Given the description of an element on the screen output the (x, y) to click on. 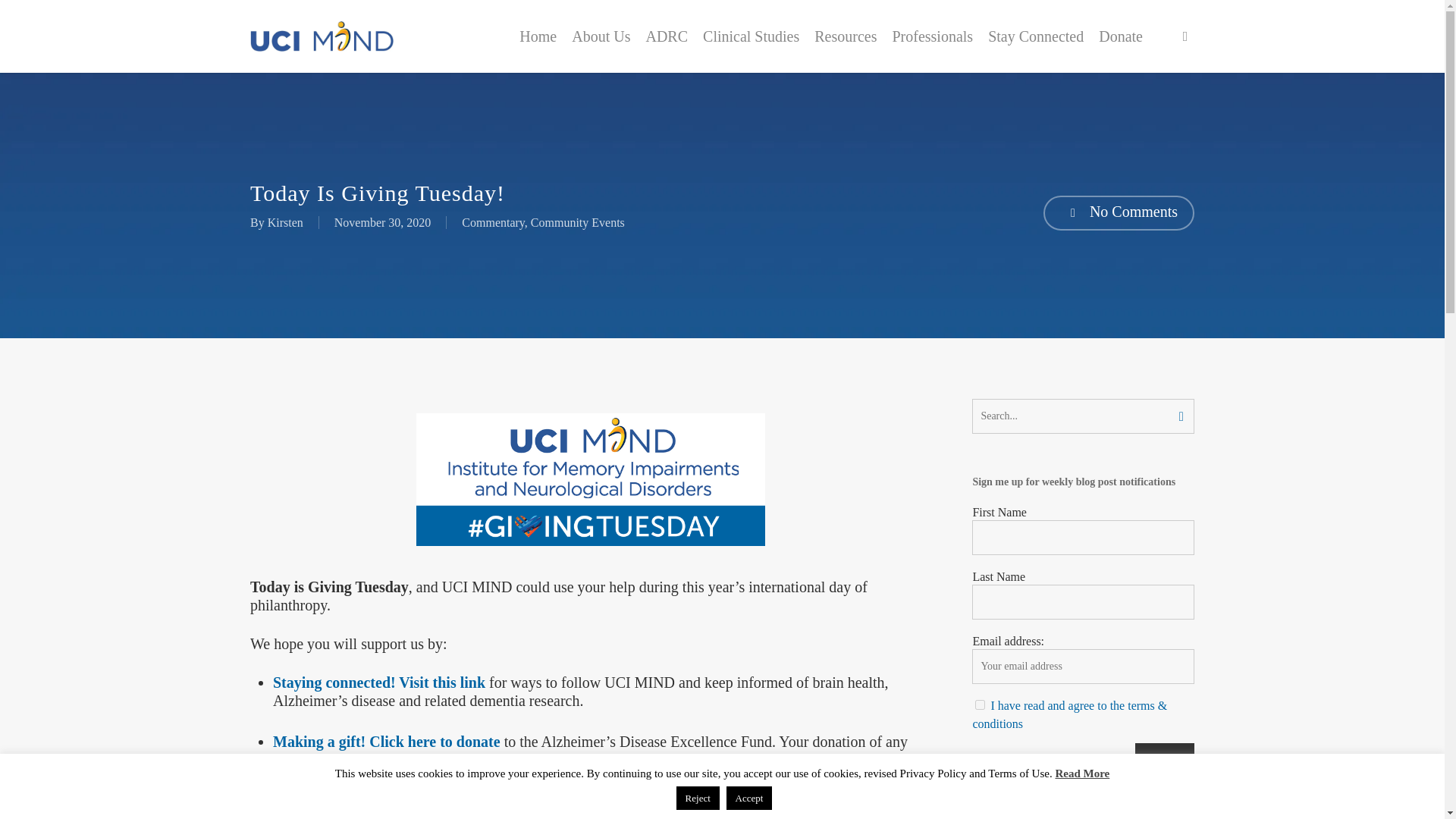
Clinical Studies (750, 36)
About Us (600, 36)
Posts by Kirsten (284, 222)
1 (980, 705)
ADRC (666, 36)
Search for: (1082, 416)
Sign up (1164, 760)
Home (538, 36)
